Given the description of an element on the screen output the (x, y) to click on. 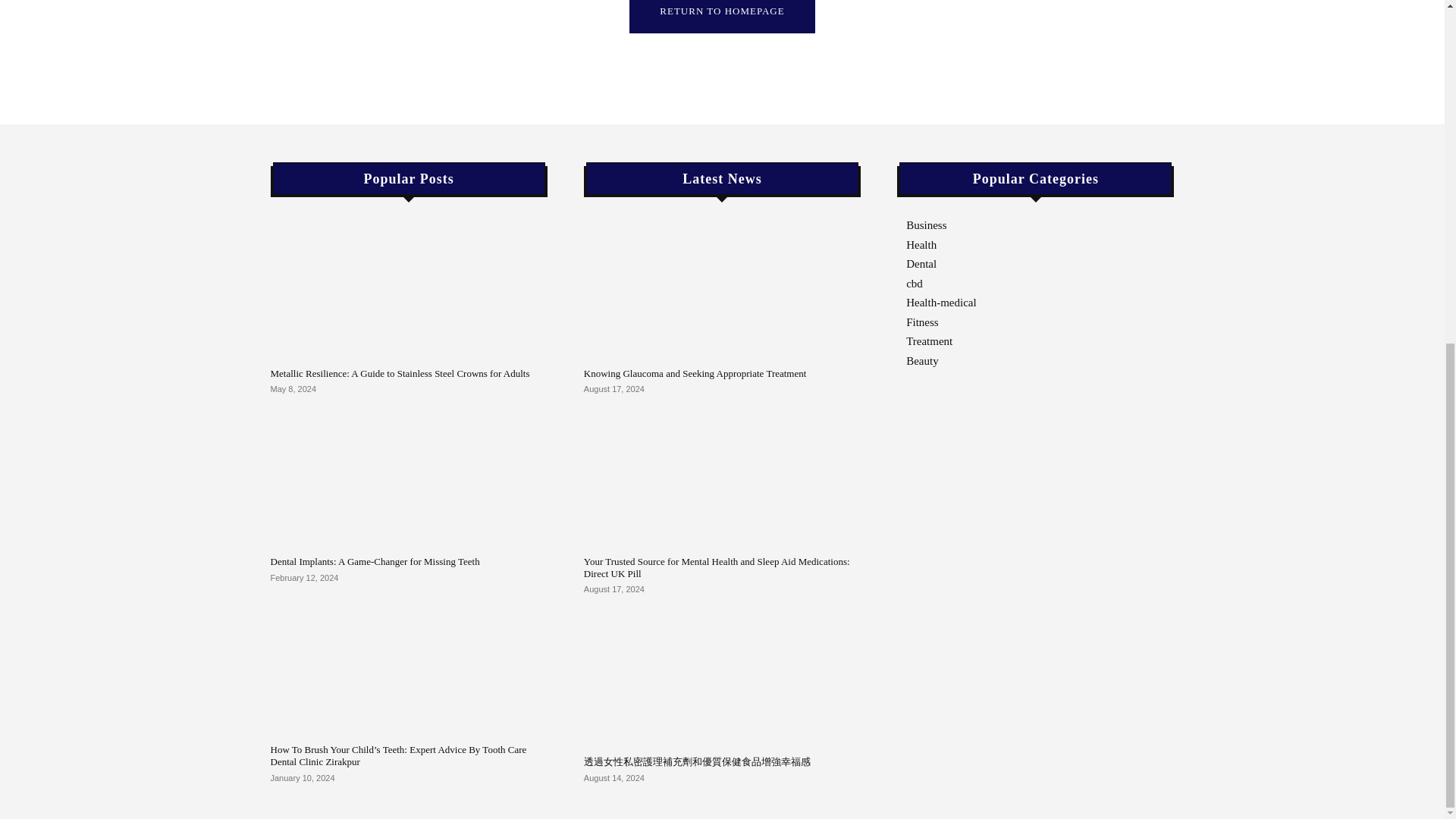
Return to Homepage (720, 16)
RETURN TO HOMEPAGE (720, 16)
Dental Implants: A Game-Changer for Missing Teeth (408, 476)
Dental Implants: A Game-Changer for Missing Teeth (374, 561)
Knowing Glaucoma and Seeking Appropriate Treatment (721, 288)
